Given the description of an element on the screen output the (x, y) to click on. 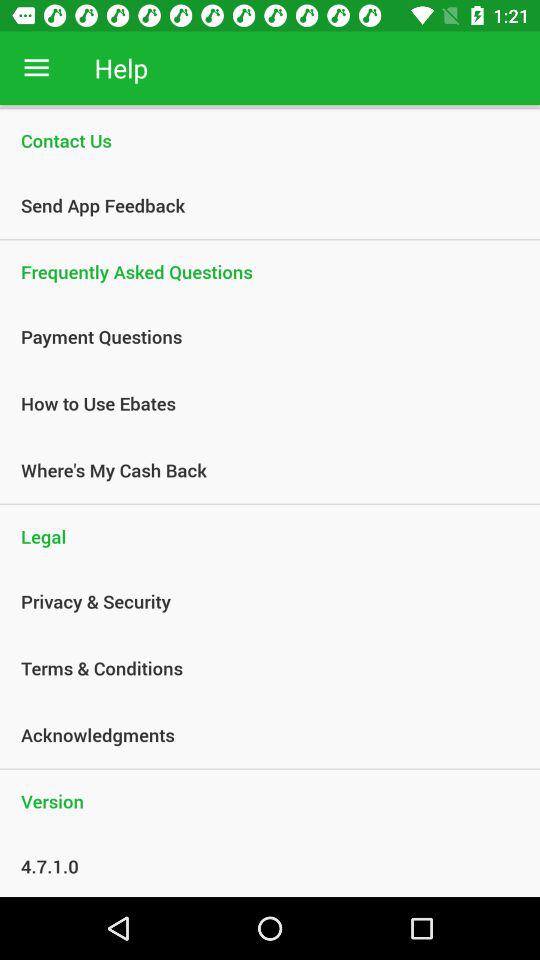
press the item above payment questions icon (270, 271)
